Given the description of an element on the screen output the (x, y) to click on. 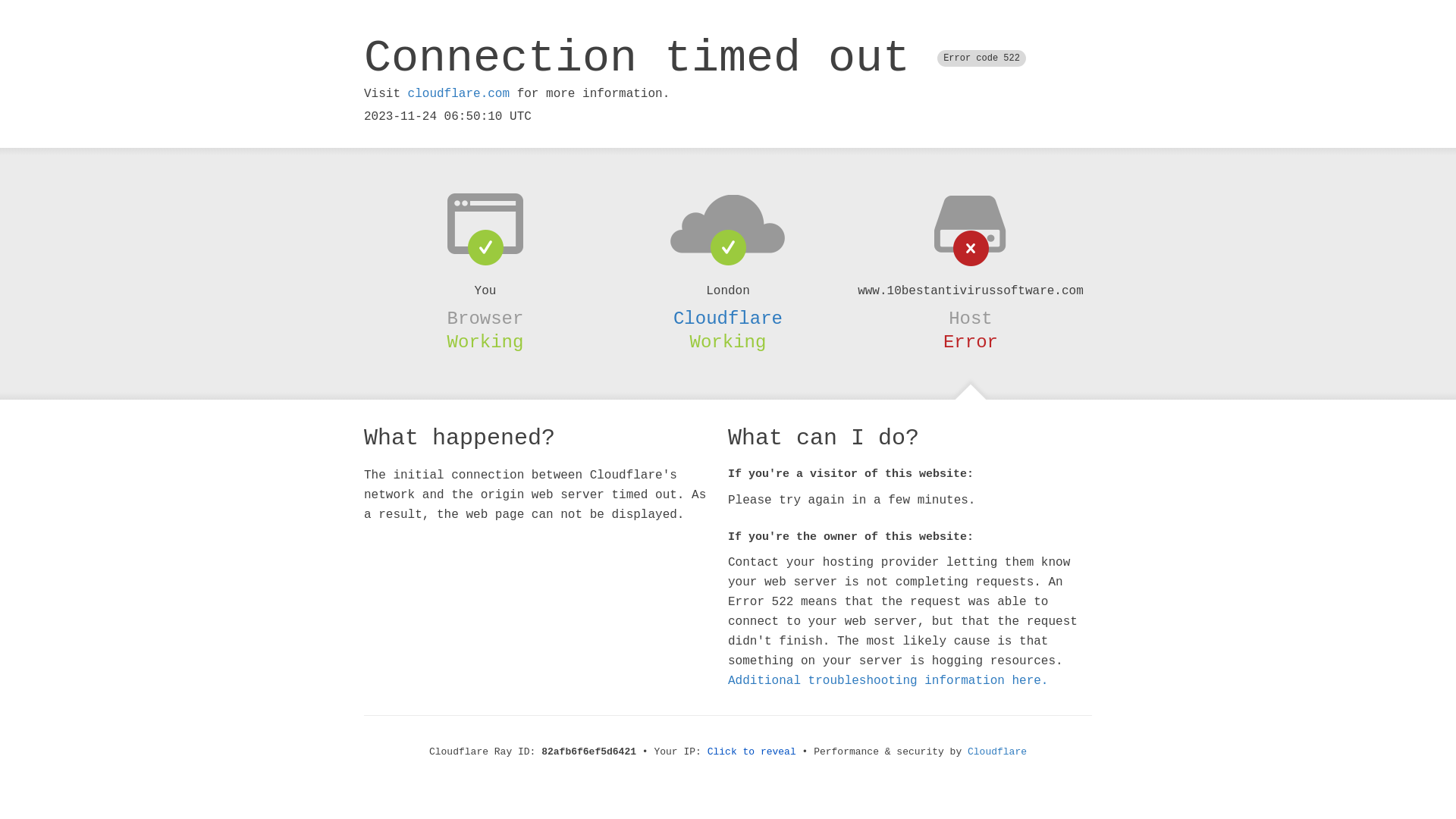
Click to reveal Element type: text (751, 751)
cloudflare.com Element type: text (458, 93)
Cloudflare Element type: text (996, 751)
Additional troubleshooting information here. Element type: text (888, 680)
Cloudflare Element type: text (727, 318)
